Given the description of an element on the screen output the (x, y) to click on. 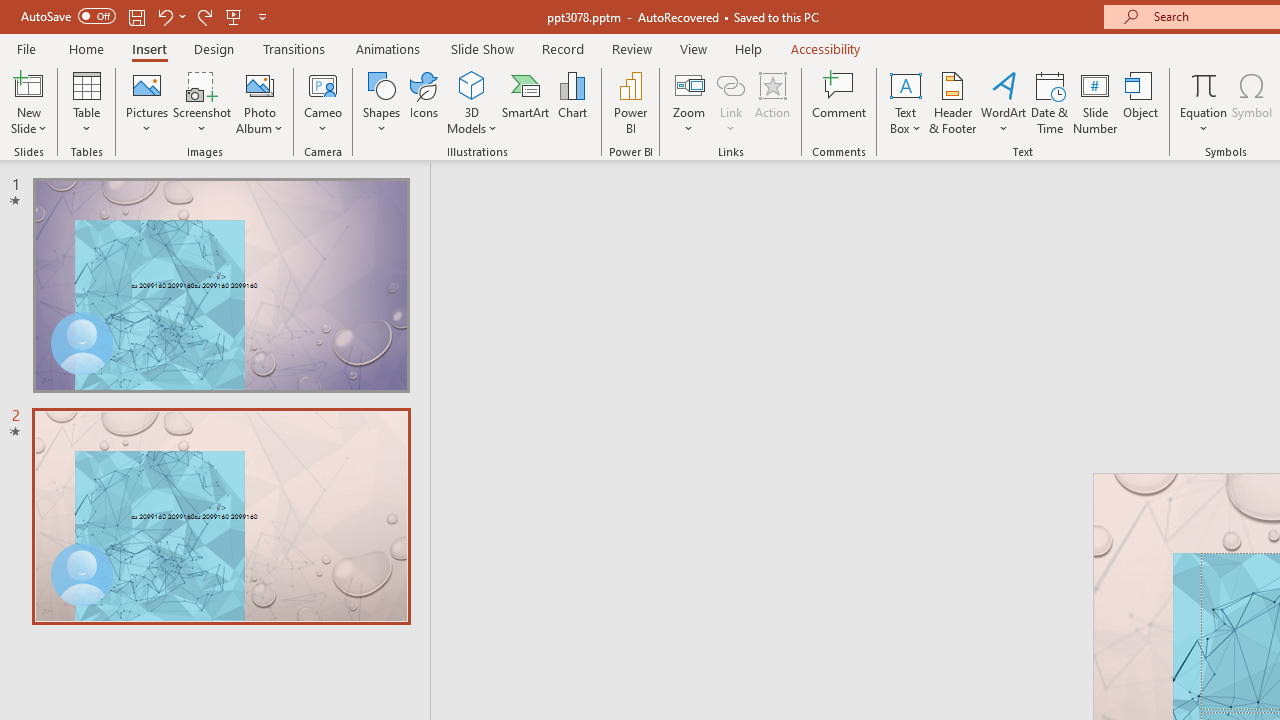
Draw Horizontal Text Box (905, 84)
Date & Time... (1050, 102)
SmartArt... (525, 102)
